Given the description of an element on the screen output the (x, y) to click on. 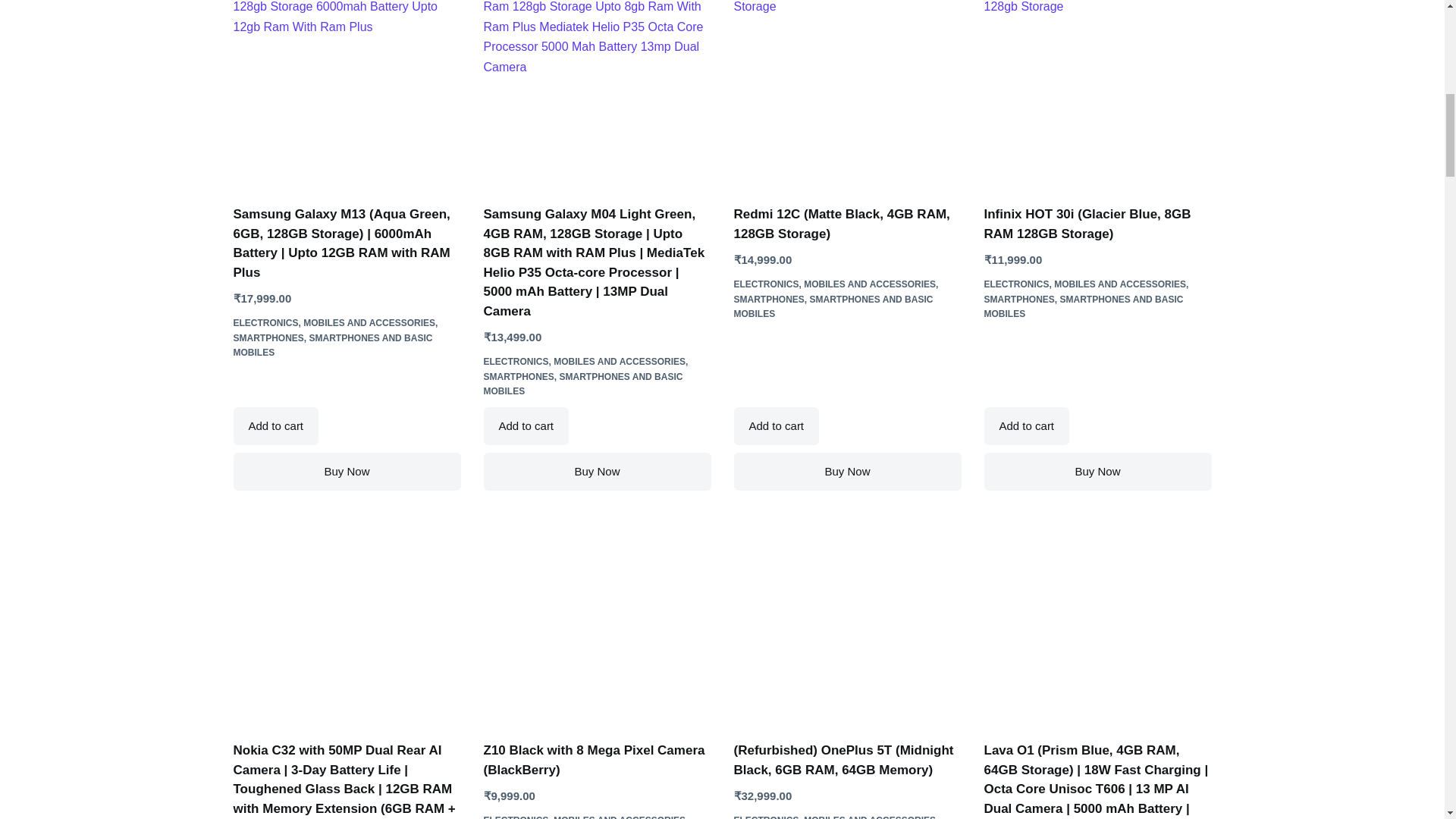
Redmi-12C-Matte-Black-4GB-RAM-128GB-Storage (846, 102)
Infinix-HOT-30i-Glacier-Blue-8GB-RAM-128GB-Storage (1097, 102)
Z10-Black-with-8-Mega-Pixel-Camera-BlackBerry (597, 627)
Refurbished-OnePlus-5T-Midnight-Black-6GB-RAM-64GB-Memory (846, 627)
